Given the description of an element on the screen output the (x, y) to click on. 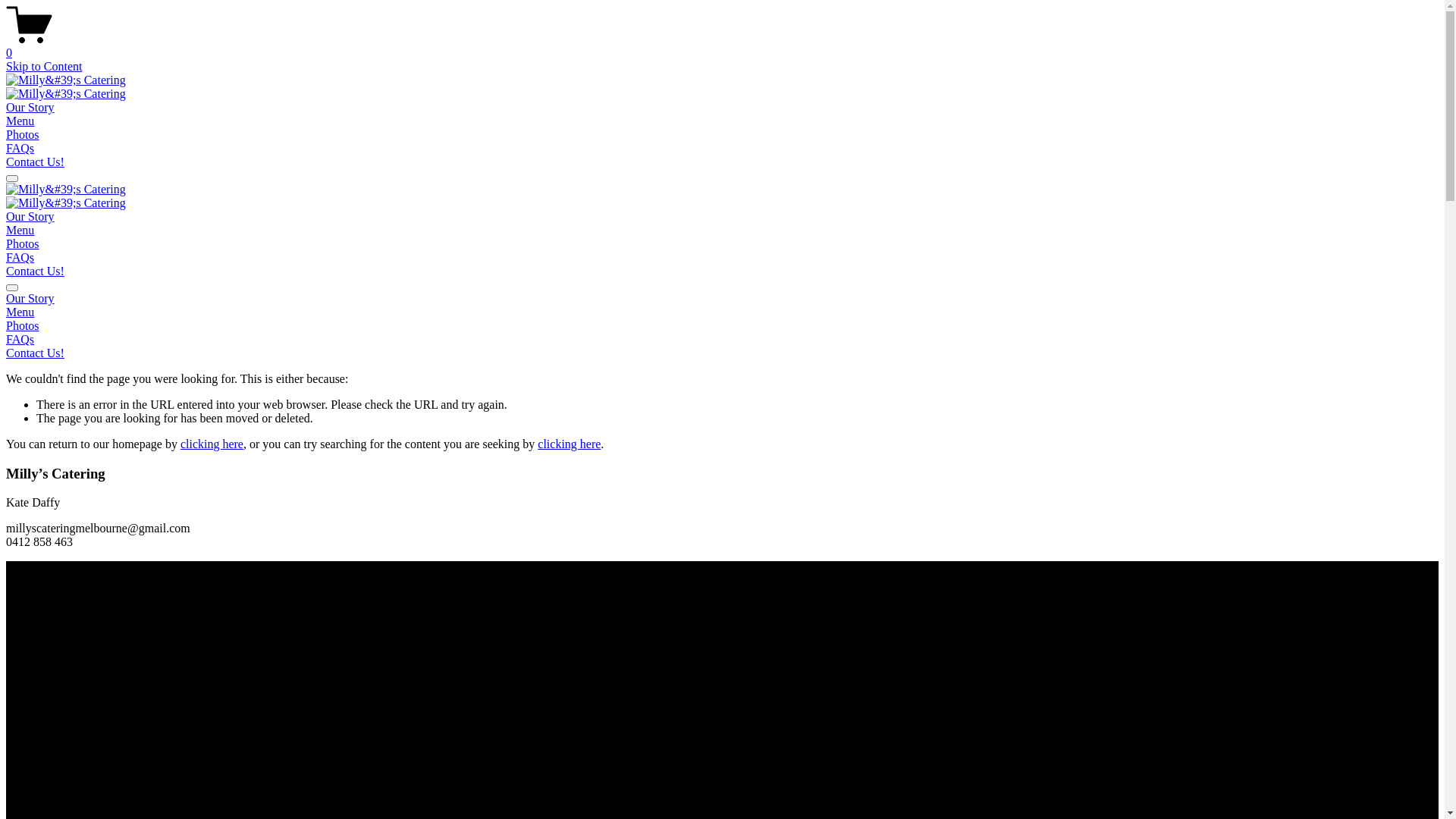
Our Story Element type: text (722, 298)
clicking here Element type: text (568, 443)
Contact Us! Element type: text (722, 353)
clicking here Element type: text (211, 443)
0 Element type: text (722, 45)
FAQs Element type: text (20, 147)
FAQs Element type: text (722, 339)
Our Story Element type: text (30, 216)
Menu Element type: text (20, 229)
Photos Element type: text (722, 325)
Menu Element type: text (722, 312)
Menu Element type: text (20, 120)
FAQs Element type: text (20, 257)
Our Story Element type: text (30, 106)
Skip to Content Element type: text (43, 65)
Photos Element type: text (22, 134)
Contact Us! Element type: text (35, 161)
Contact Us! Element type: text (35, 270)
Photos Element type: text (22, 243)
